Given the description of an element on the screen output the (x, y) to click on. 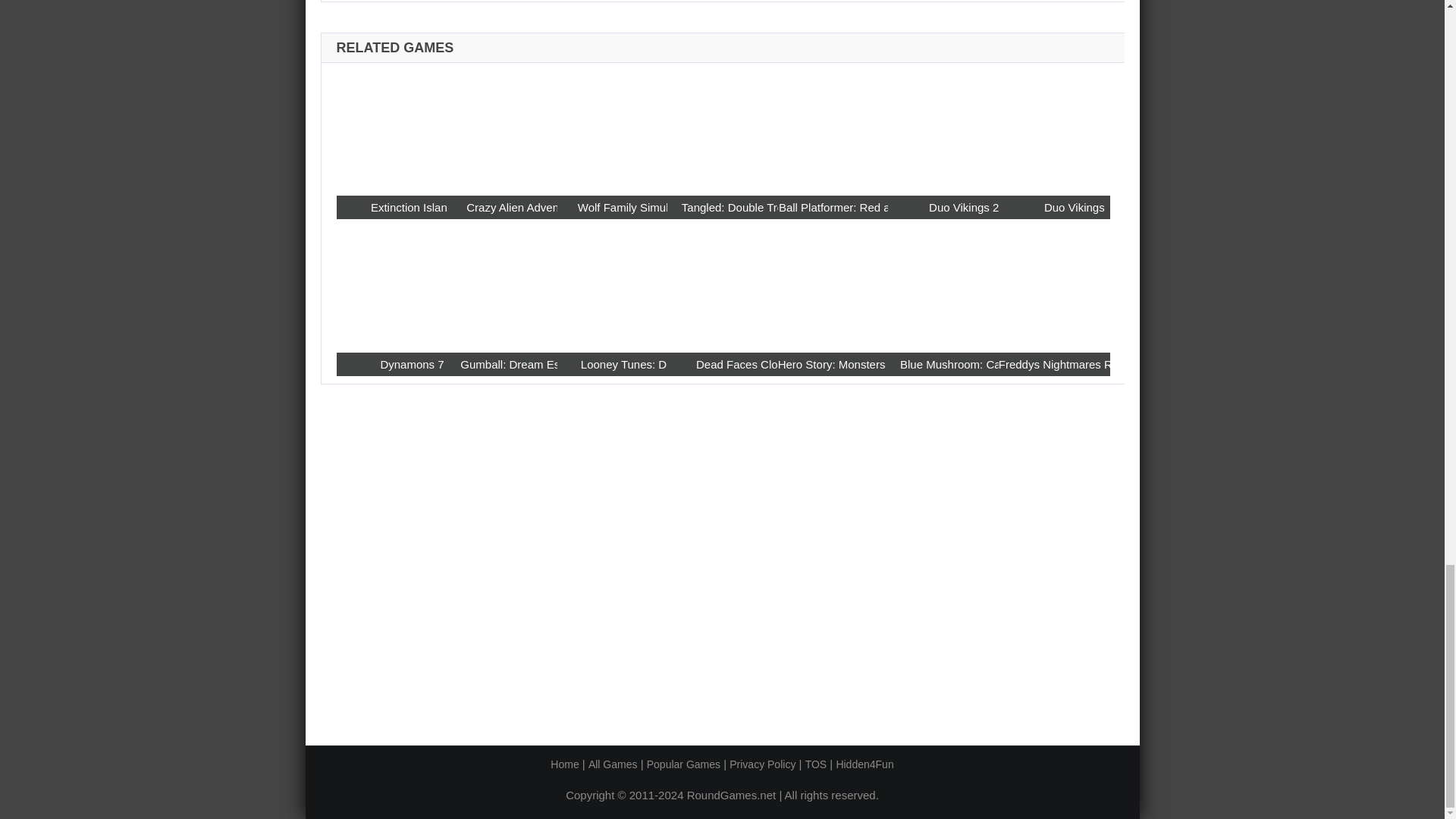
Extinction Island (391, 128)
Duo Vikings 2 (963, 207)
Tangled: Double Trouble (721, 128)
Ball Platformer: Red and Blue (853, 207)
Duo Vikings (1053, 128)
Wolf Family Simulator (612, 128)
Extinction Island (411, 207)
Wolf Family Simulator (633, 207)
Ball Platformer: Red and Blue (832, 128)
Tangled: Double Trouble (742, 207)
Crazy Alien Adventure (522, 207)
Duo Vikings 2 (943, 128)
Crazy Alien Adventure (501, 128)
Duo Vikings (1074, 207)
